Given the description of an element on the screen output the (x, y) to click on. 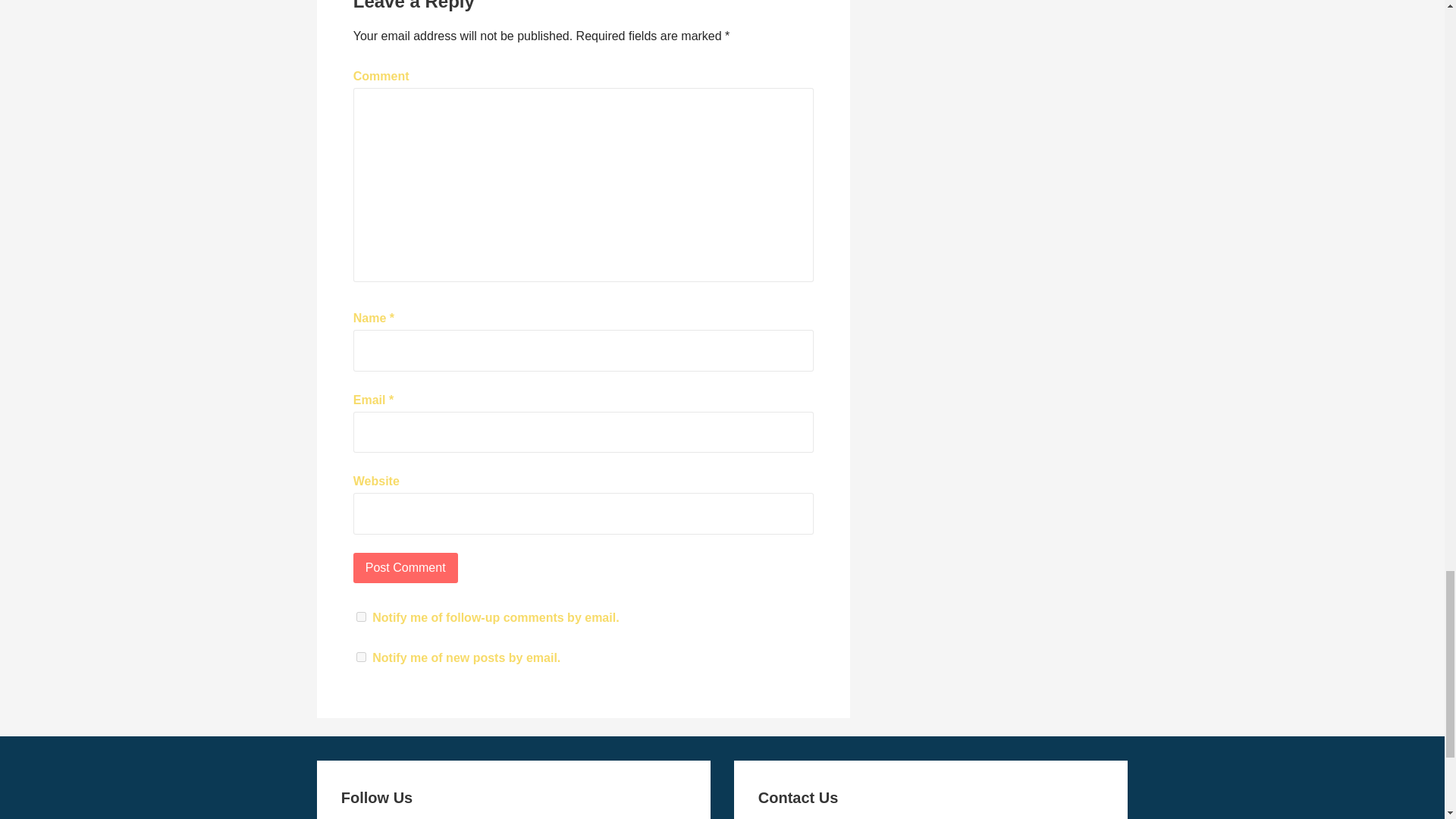
subscribe (361, 656)
subscribe (361, 616)
Post Comment (405, 567)
Post Comment (405, 567)
